Given the description of an element on the screen output the (x, y) to click on. 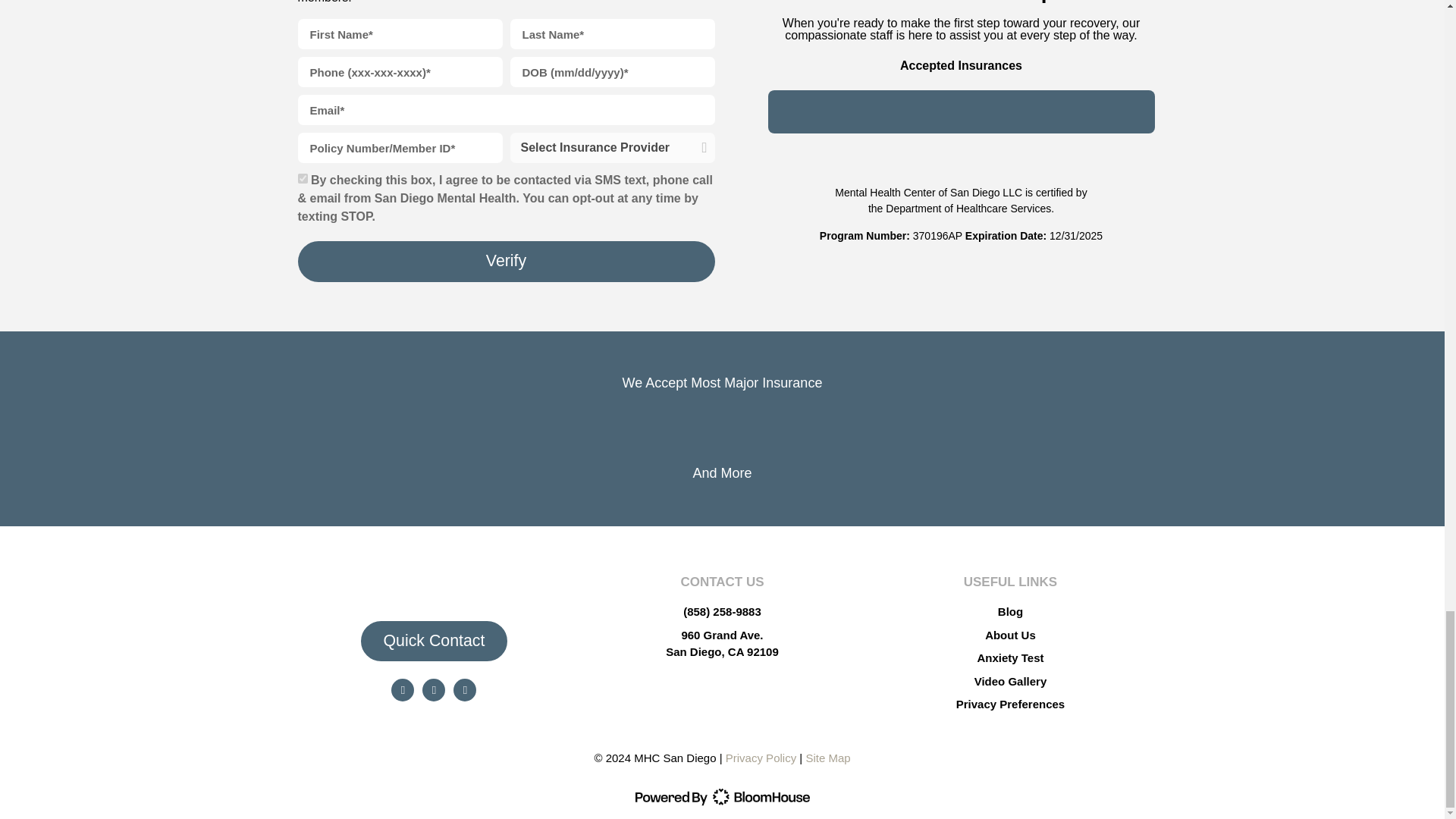
on (302, 178)
